Given the description of an element on the screen output the (x, y) to click on. 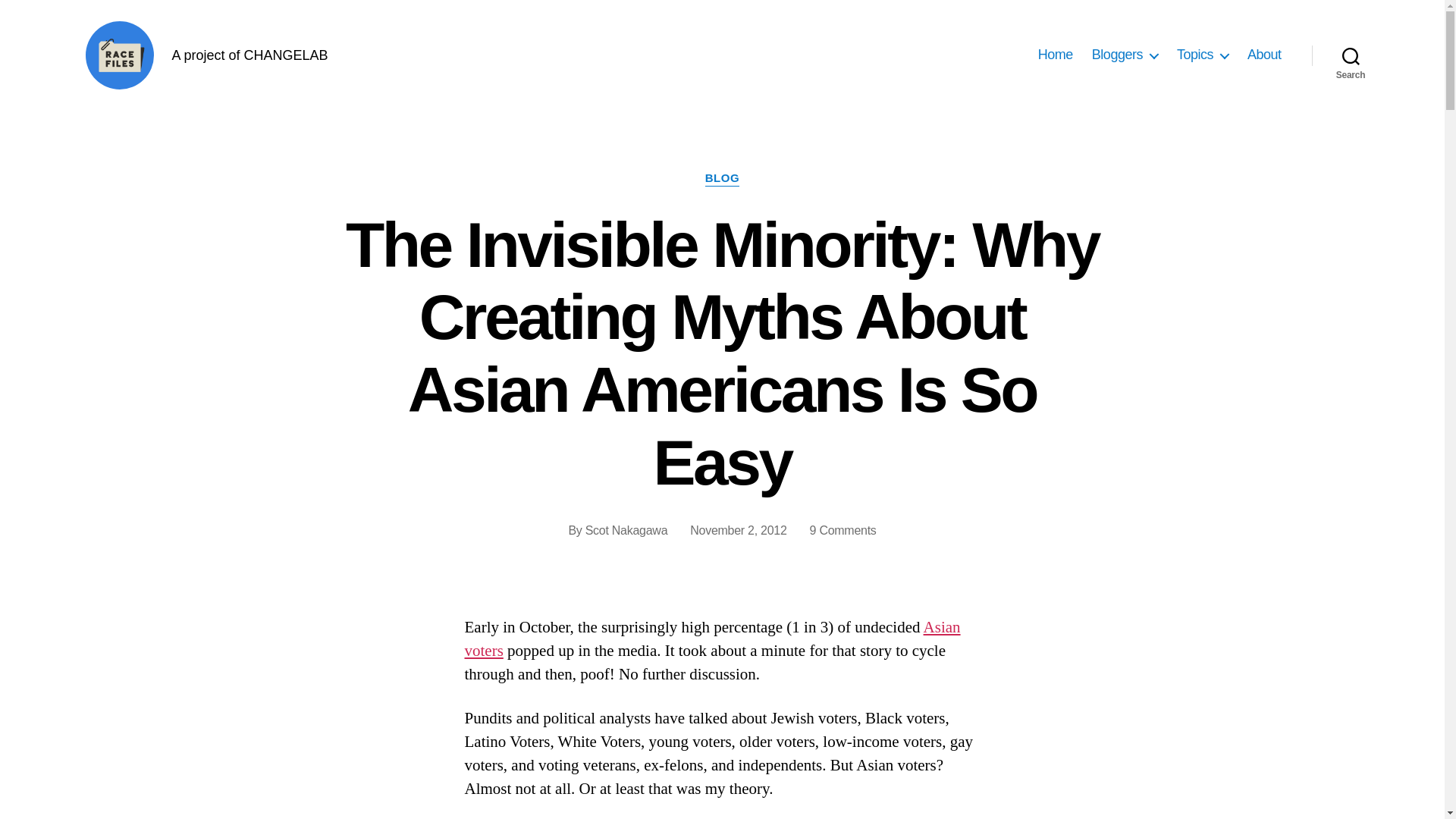
Bloggers (1124, 54)
Home (1055, 54)
Scot Nakagawa (626, 530)
Search (1350, 55)
BLOG (721, 178)
Topics (1202, 54)
About (1264, 54)
